Given the description of an element on the screen output the (x, y) to click on. 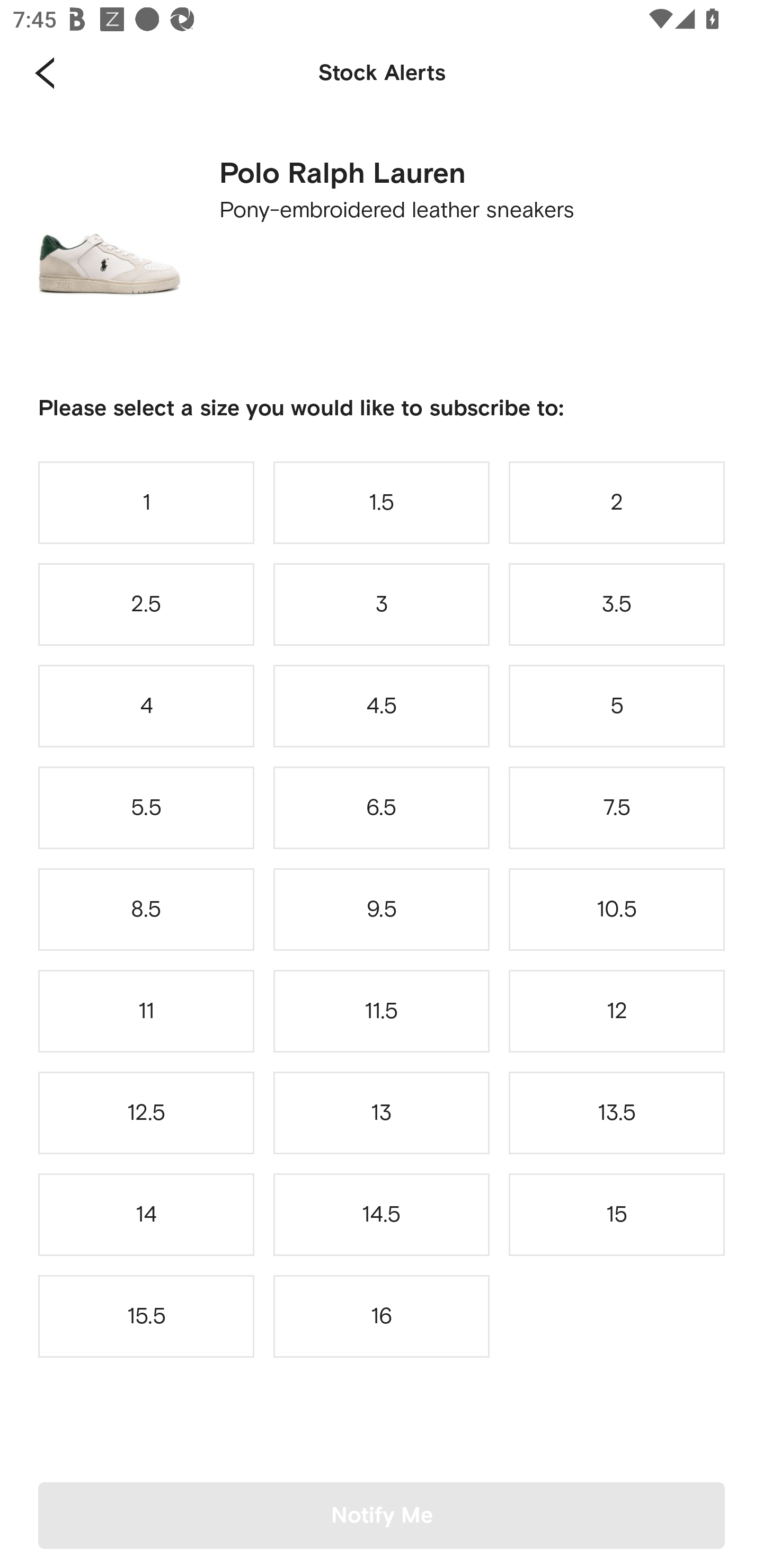
1 (146, 502)
1.5 (381, 502)
2 (616, 502)
2.5 (146, 604)
3 (381, 604)
3.5 (616, 604)
4 (146, 705)
4.5 (381, 705)
5 (616, 705)
5.5 (146, 807)
6.5 (381, 807)
7.5 (616, 807)
8.5 (146, 909)
9.5 (381, 909)
10.5 (616, 909)
11 (146, 1011)
11.5 (381, 1011)
12 (616, 1011)
12.5 (146, 1112)
13 (381, 1112)
13.5 (616, 1112)
14 (146, 1213)
14.5 (381, 1213)
15 (616, 1213)
15.5 (146, 1315)
16 (381, 1315)
Notify Me (381, 1515)
